Given the description of an element on the screen output the (x, y) to click on. 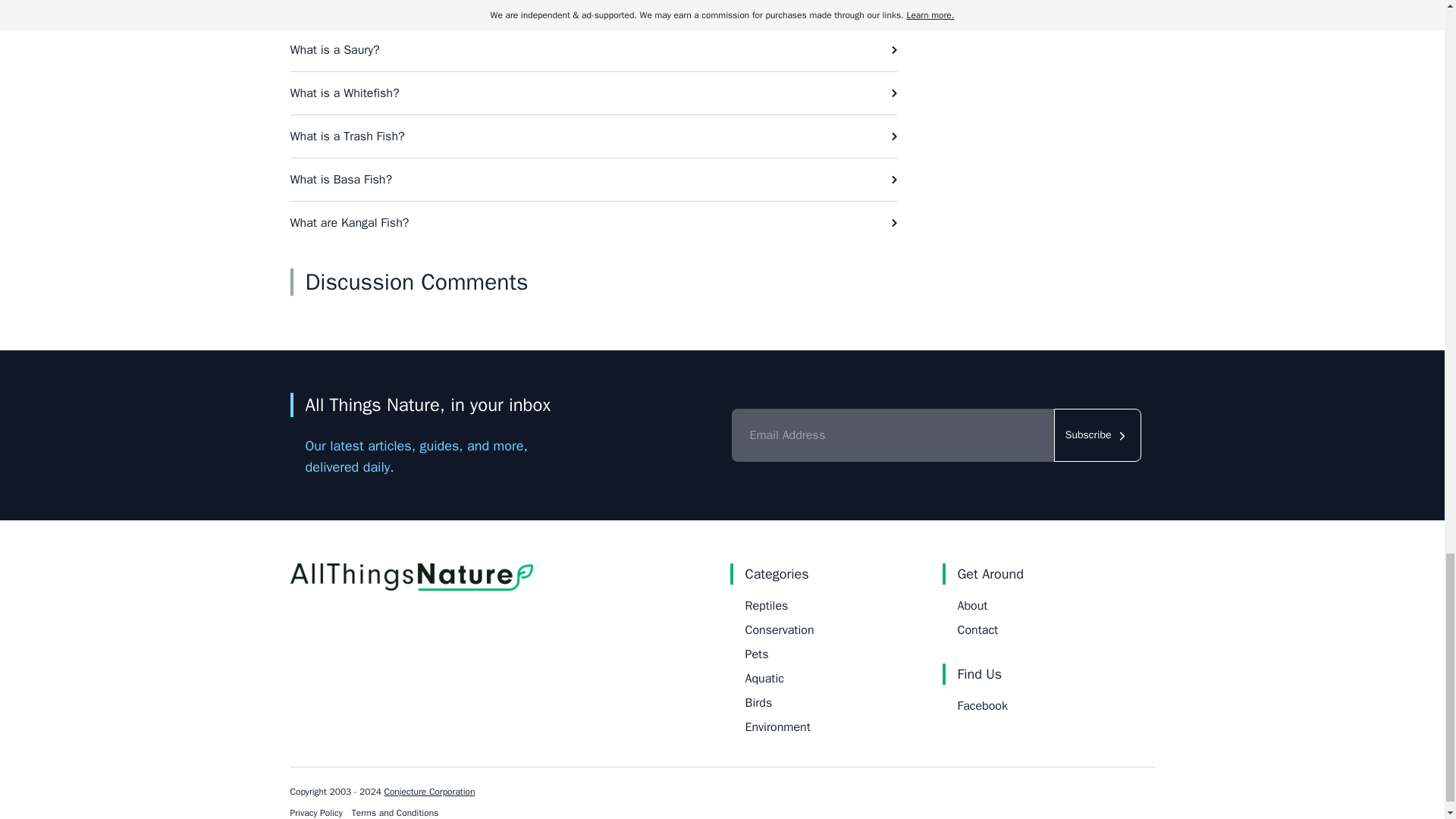
What is a Saury? (592, 49)
